Given the description of an element on the screen output the (x, y) to click on. 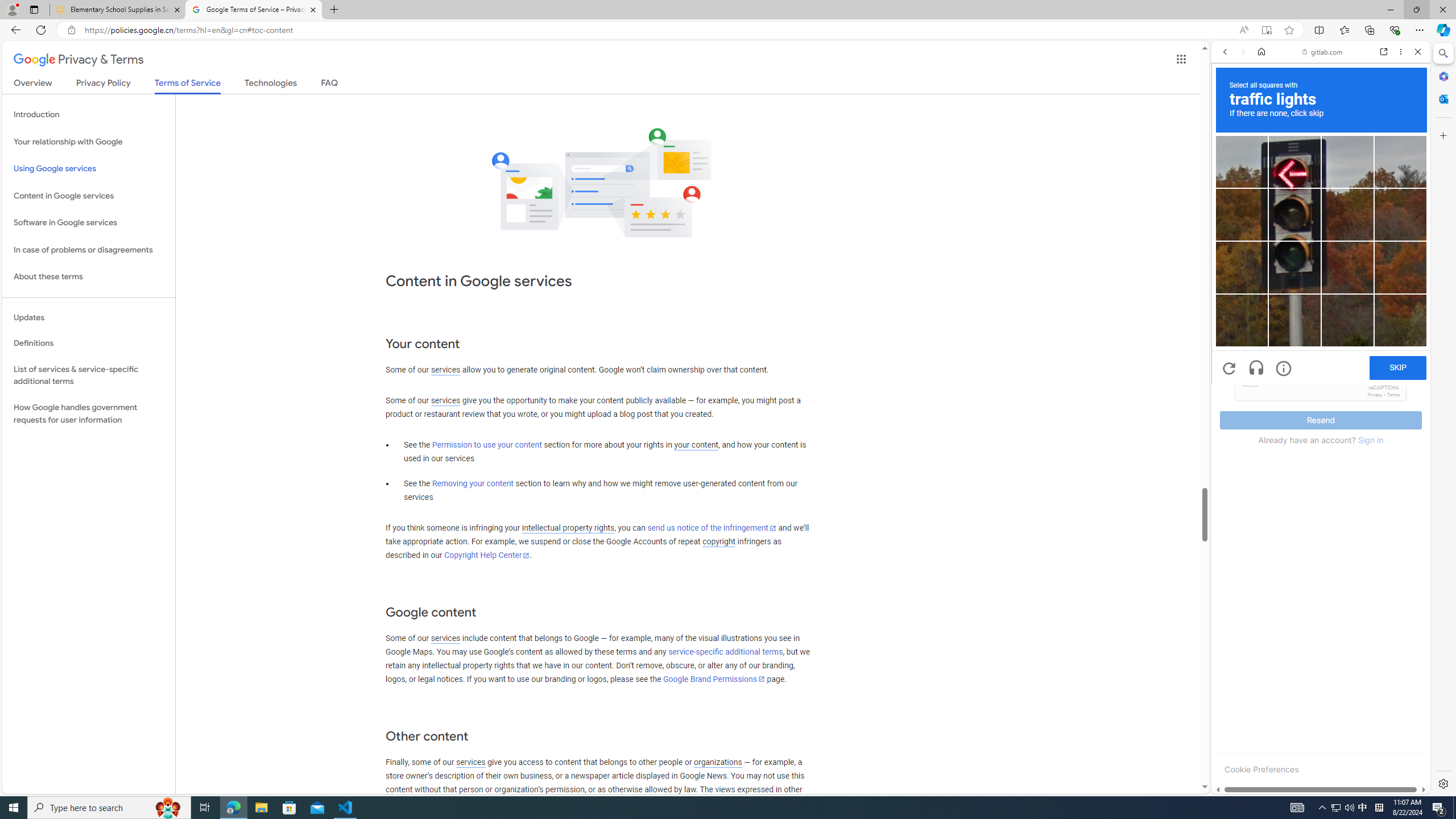
Emails (1232, 342)
